Given the description of an element on the screen output the (x, y) to click on. 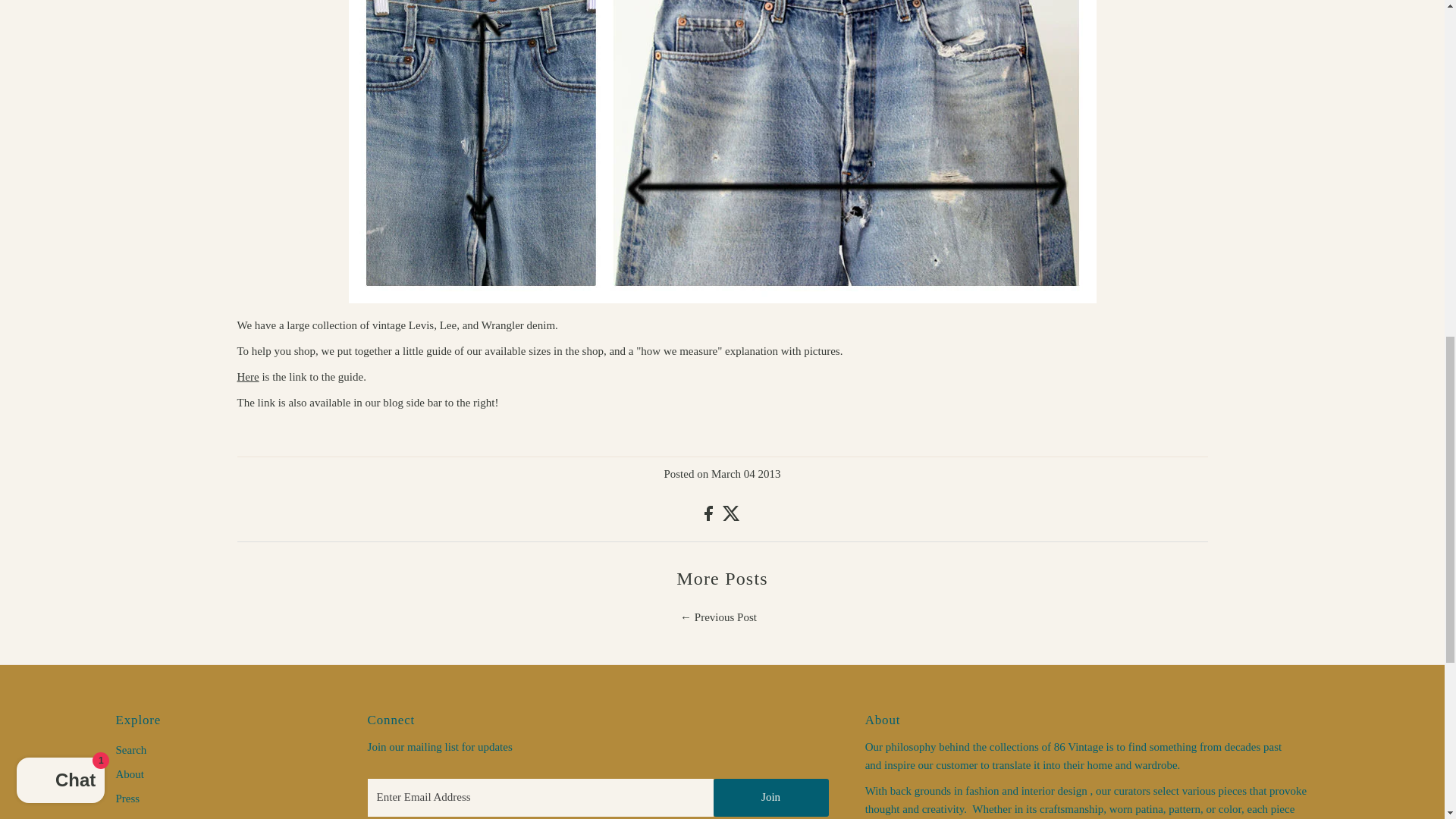
Join (770, 797)
